Given the description of an element on the screen output the (x, y) to click on. 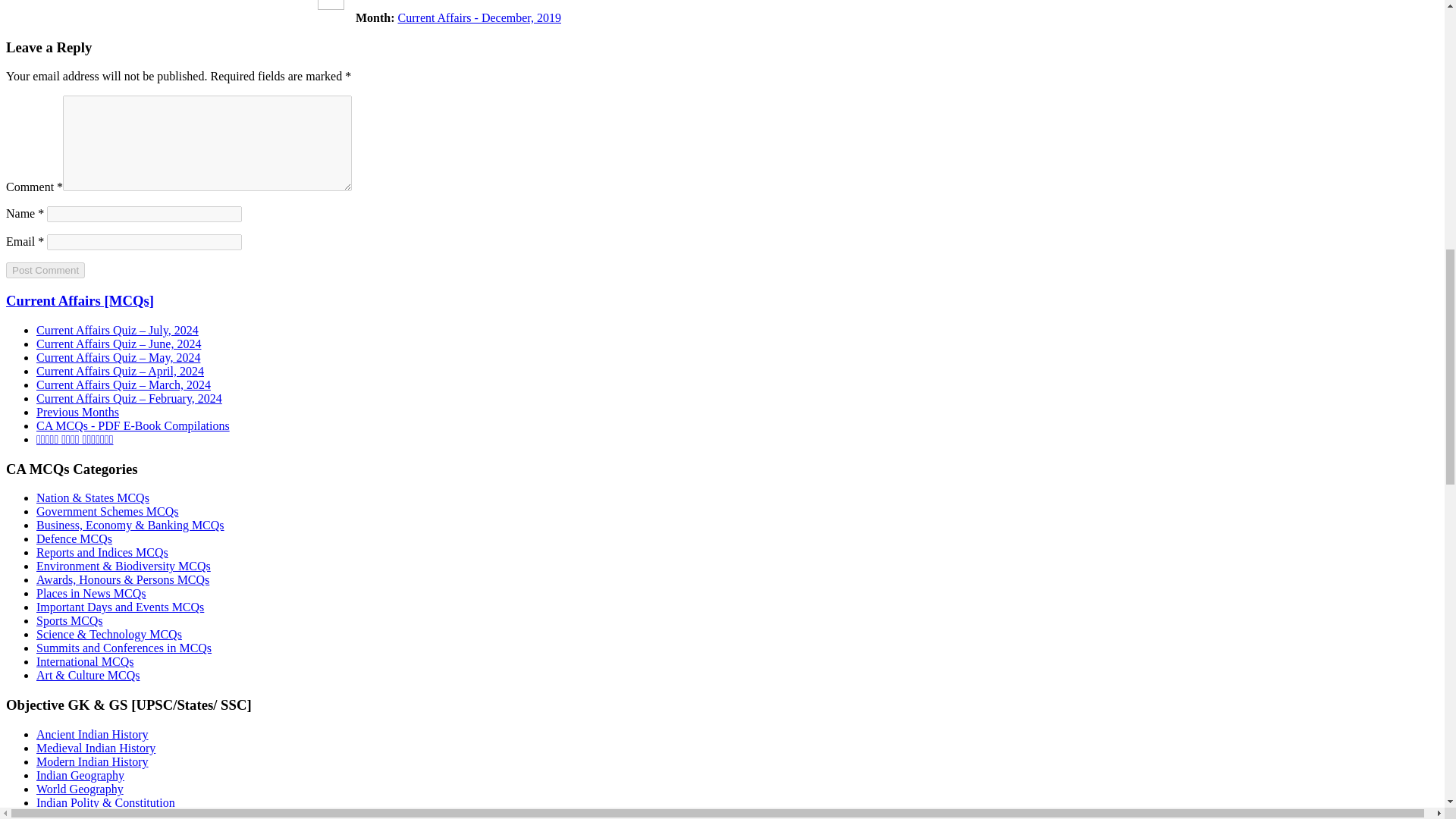
CA MCQs - PDF E-Book Compilations (133, 425)
Current Affairs - December, 2019 (478, 17)
Post Comment (44, 270)
Post Comment (44, 270)
Government Schemes MCQs (107, 511)
Reports and Indices MCQs (102, 552)
Previous Months (77, 411)
Defence MCQs (74, 538)
